Given the description of an element on the screen output the (x, y) to click on. 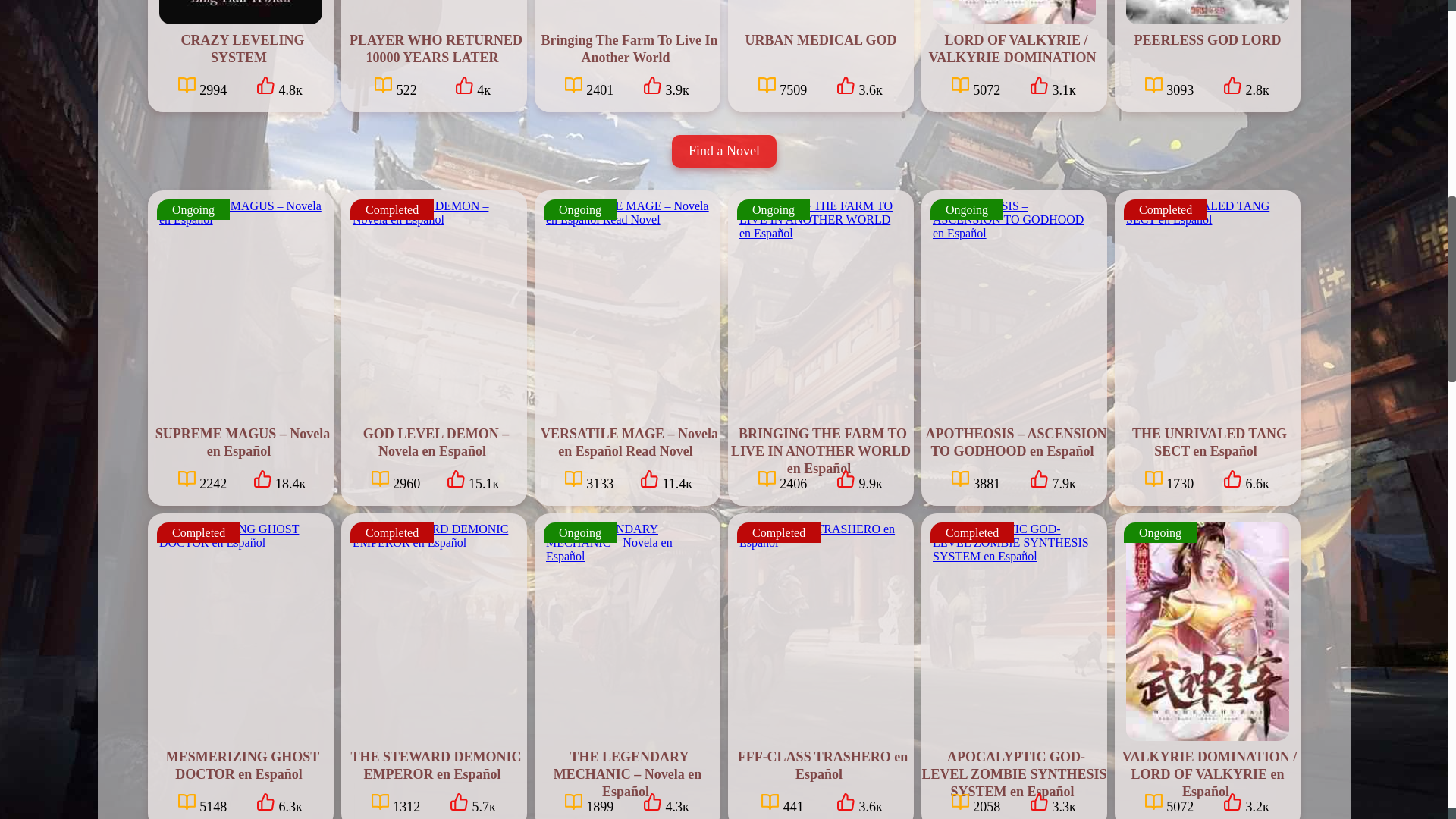
Liked 4768 people - JOIN! (278, 87)
Liked 3081 people - JOIN! (1051, 87)
Liked 15138 people - JOIN! (472, 480)
Liked 11392 people - JOIN! (665, 480)
CRAZY LEVELING SYSTEM (240, 48)
Liked 9870 people - JOIN! (859, 480)
Liked 3855 people - JOIN! (665, 87)
Liked 18436 people - JOIN! (278, 480)
Liked 7910 people - JOIN! (1051, 480)
Liked 3956 people - JOIN! (472, 87)
PLAYER WHO RETURNED 10000 YEARS LATER (434, 48)
Liked 2837 people - JOIN! (1245, 87)
Liked 3633 people - JOIN! (859, 87)
